Given the description of an element on the screen output the (x, y) to click on. 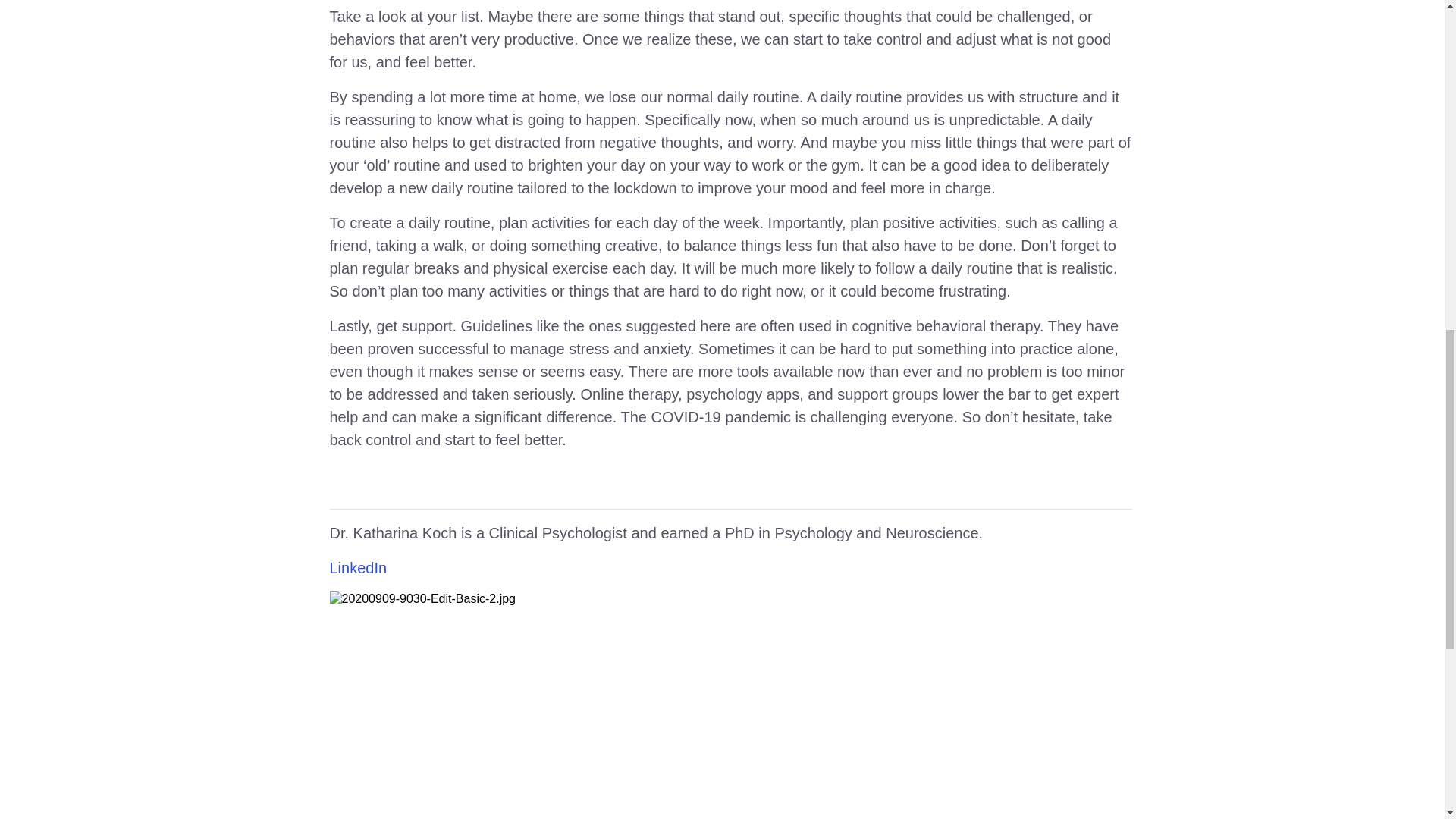
LinkedIn (358, 567)
